Given the description of an element on the screen output the (x, y) to click on. 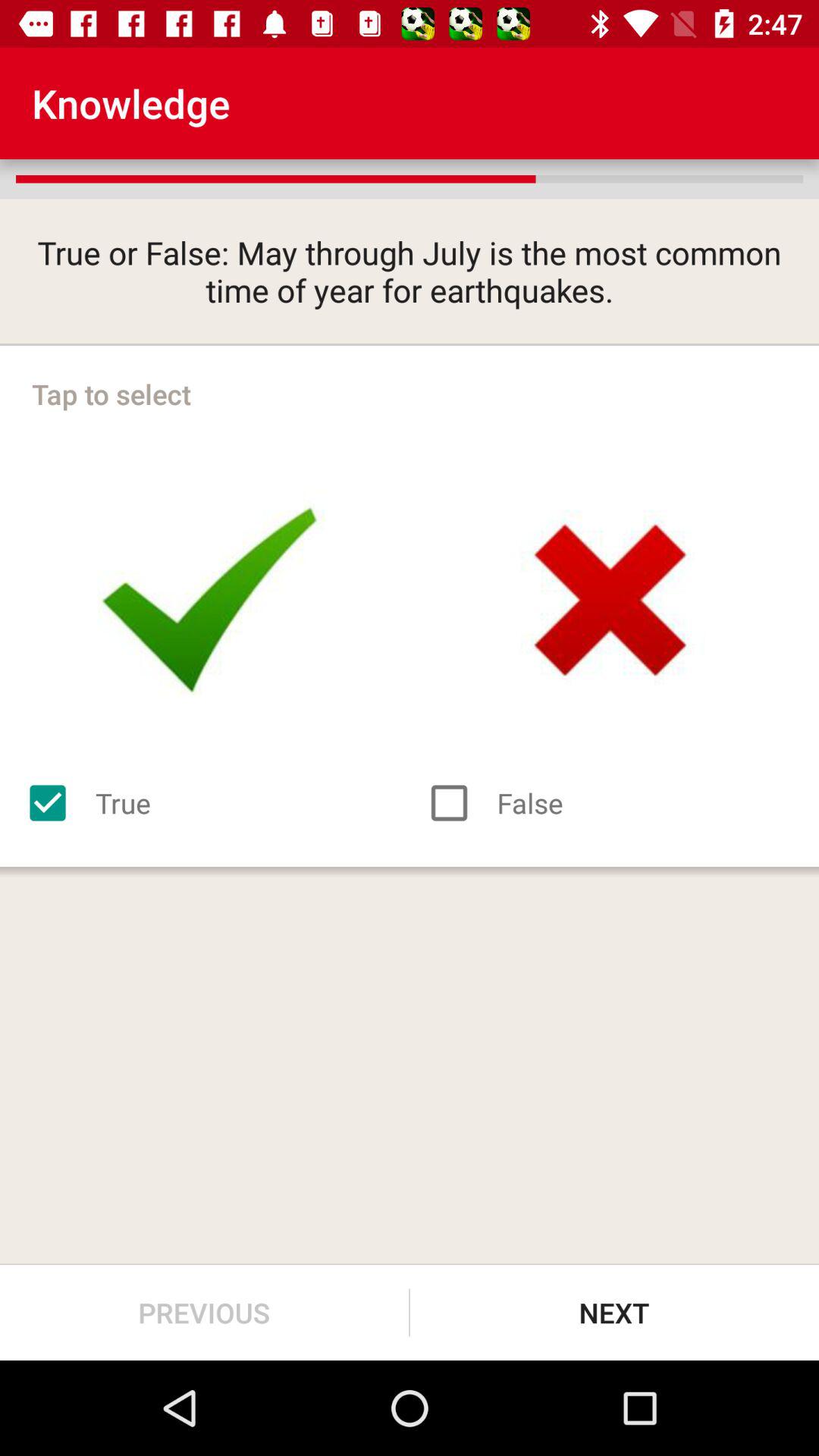
select icon at the bottom right corner (614, 1312)
